Given the description of an element on the screen output the (x, y) to click on. 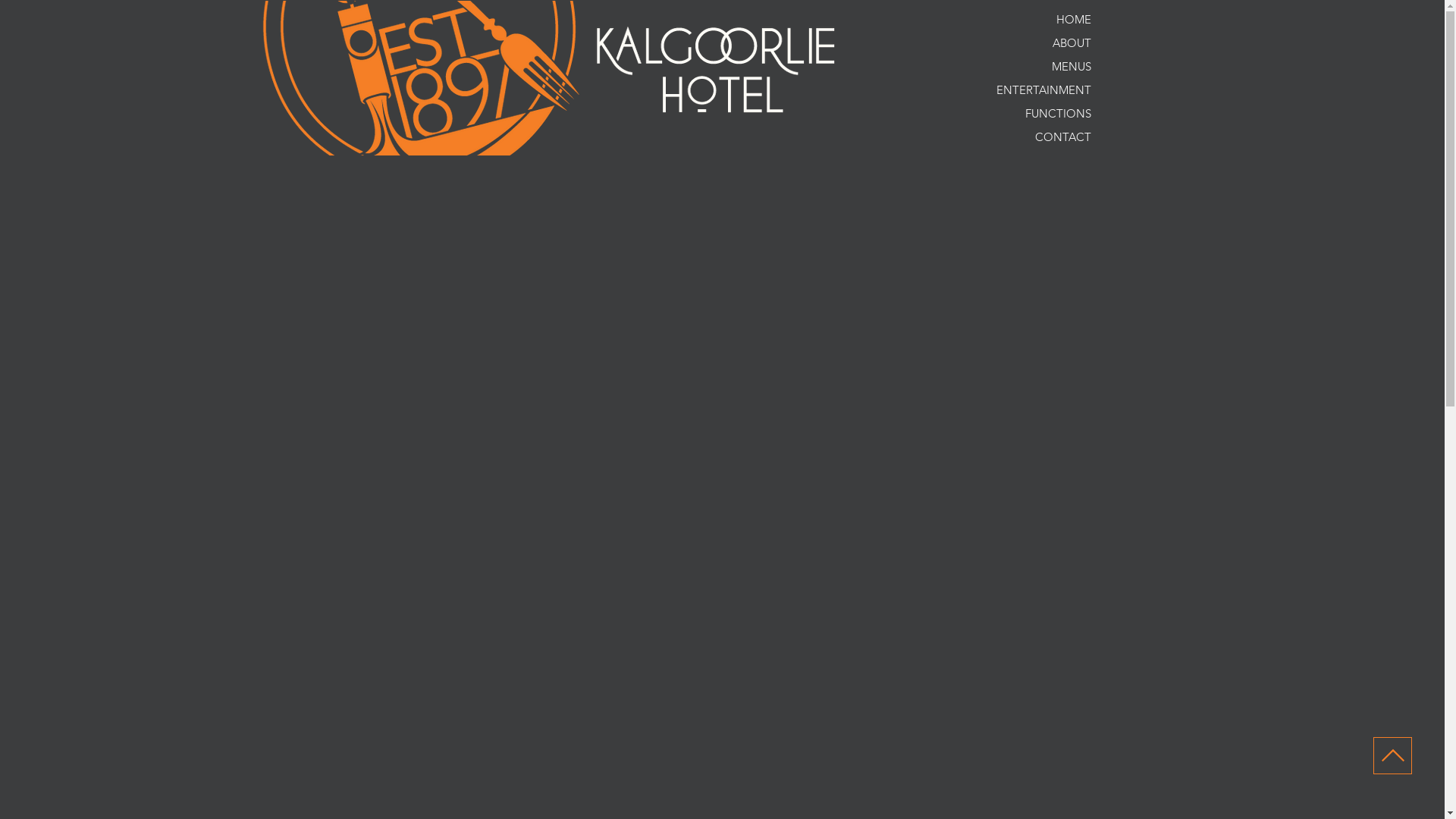
MENUS Element type: text (1026, 66)
HOME Element type: text (1026, 19)
ABOUT Element type: text (1026, 42)
CONTACT Element type: text (1026, 136)
FUNCTIONS Element type: text (1026, 113)
ENTERTAINMENT Element type: text (1026, 89)
